Given the description of an element on the screen output the (x, y) to click on. 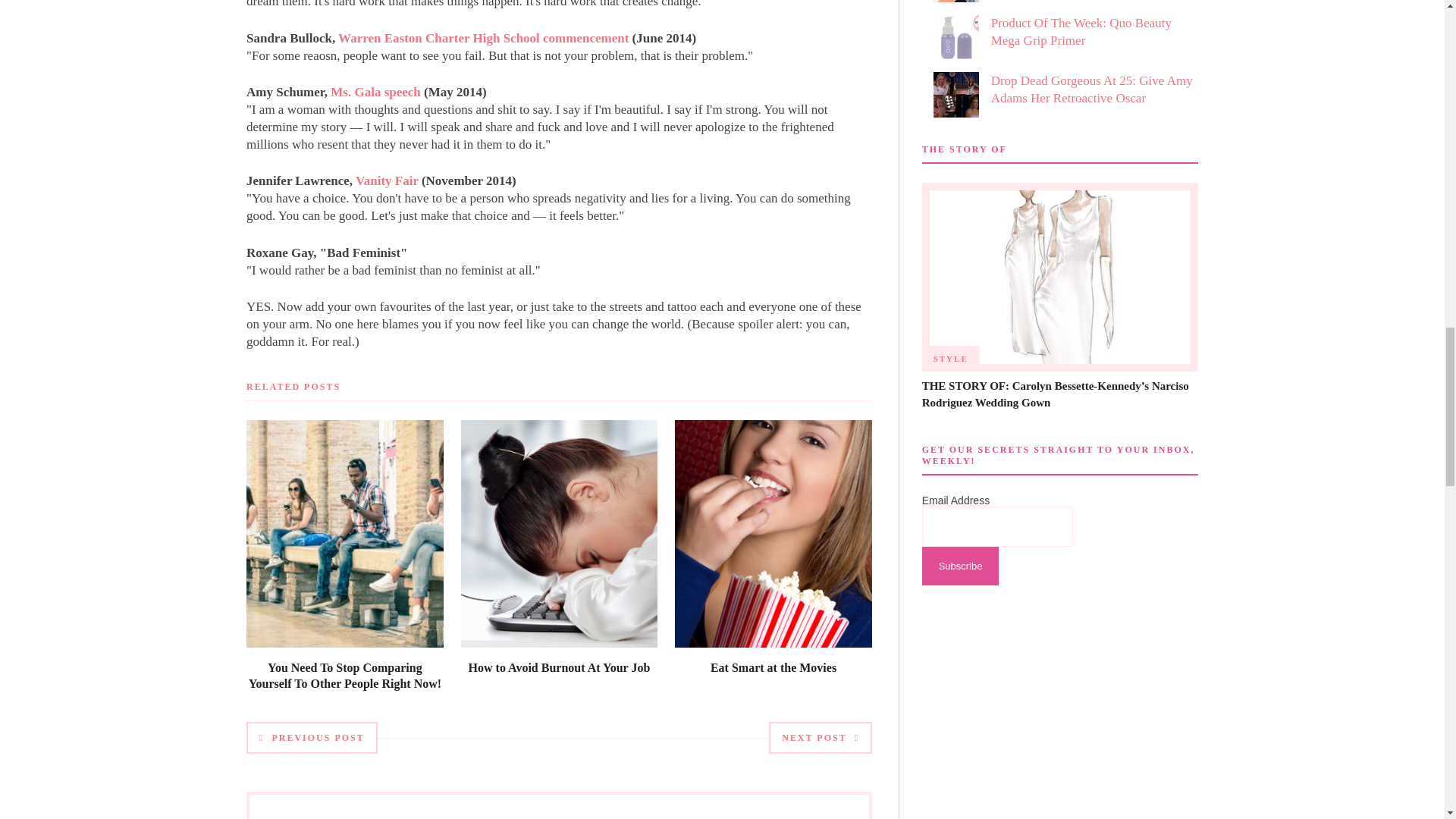
Warren Easton Charter High School commencement (482, 38)
Vanity Fair (387, 180)
Subscribe (959, 566)
Ms. Gala speech (375, 92)
